Given the description of an element on the screen output the (x, y) to click on. 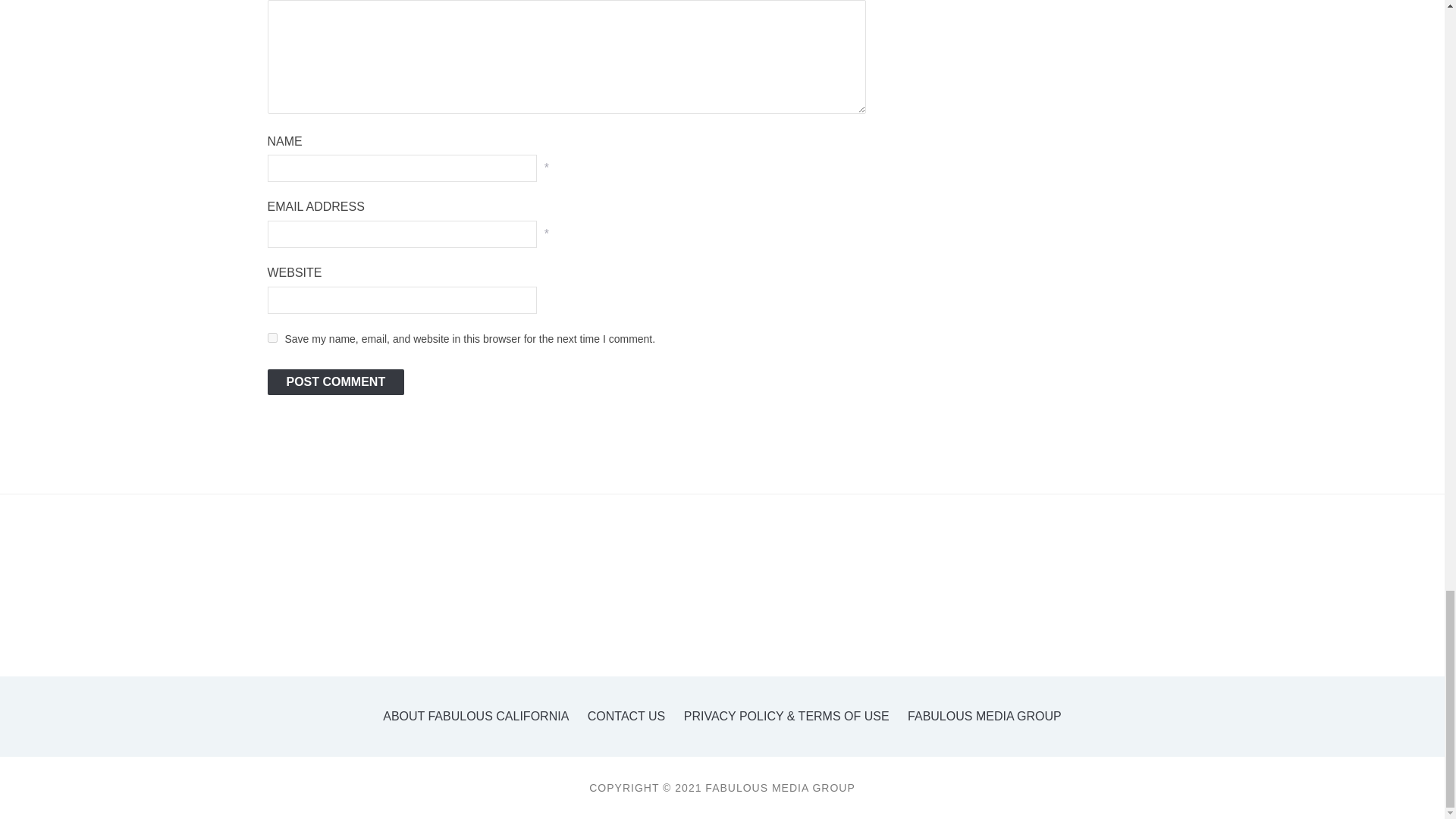
yes (271, 337)
Post Comment (335, 381)
